Given the description of an element on the screen output the (x, y) to click on. 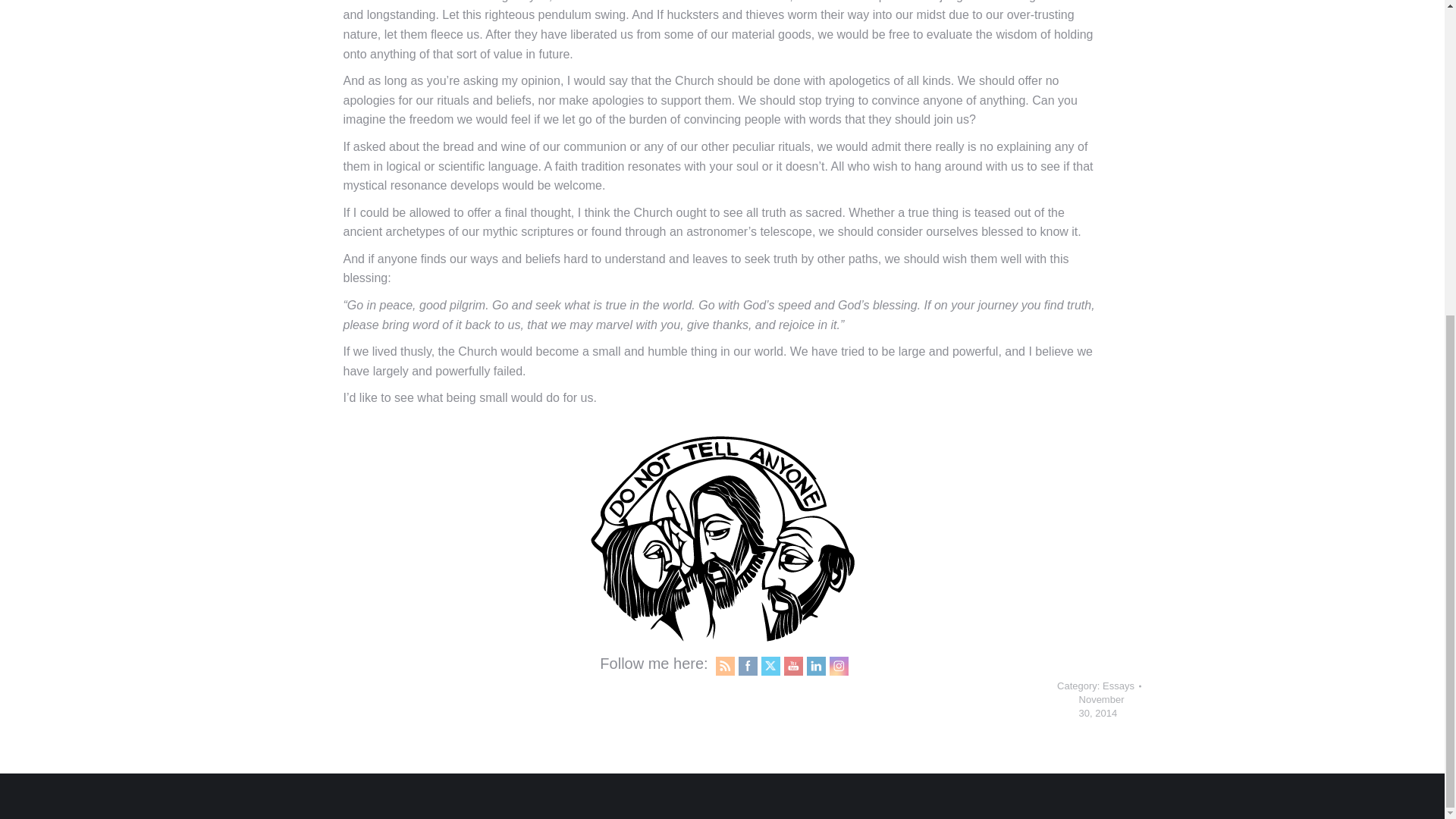
12:16 am (1101, 706)
LinkedIn (815, 665)
Instagram (838, 665)
Twitter (770, 665)
Facebook (747, 665)
RSS (724, 665)
YouTube (792, 665)
